Given the description of an element on the screen output the (x, y) to click on. 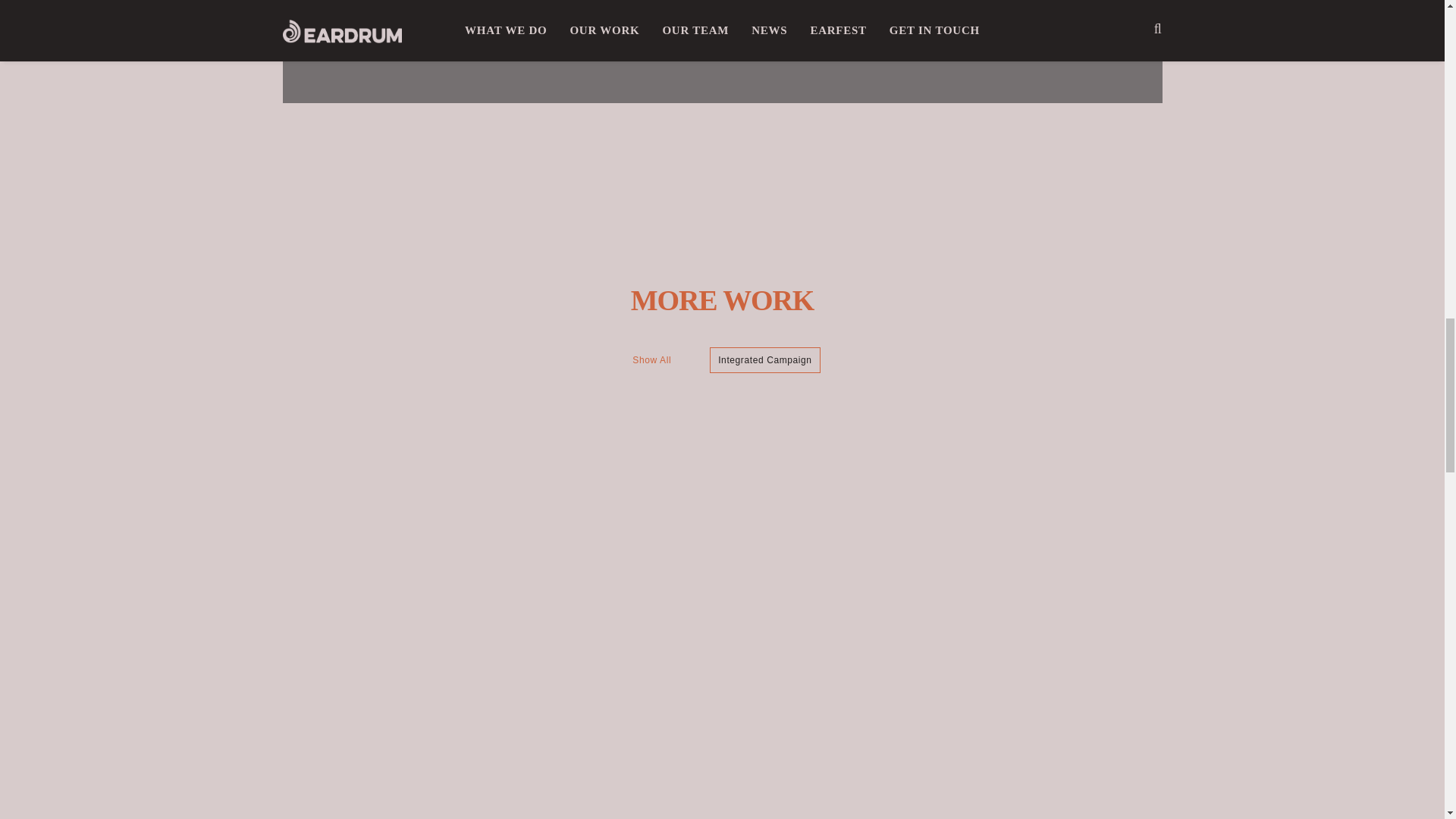
Show All (651, 360)
Integrated Campaign (764, 360)
